Given the description of an element on the screen output the (x, y) to click on. 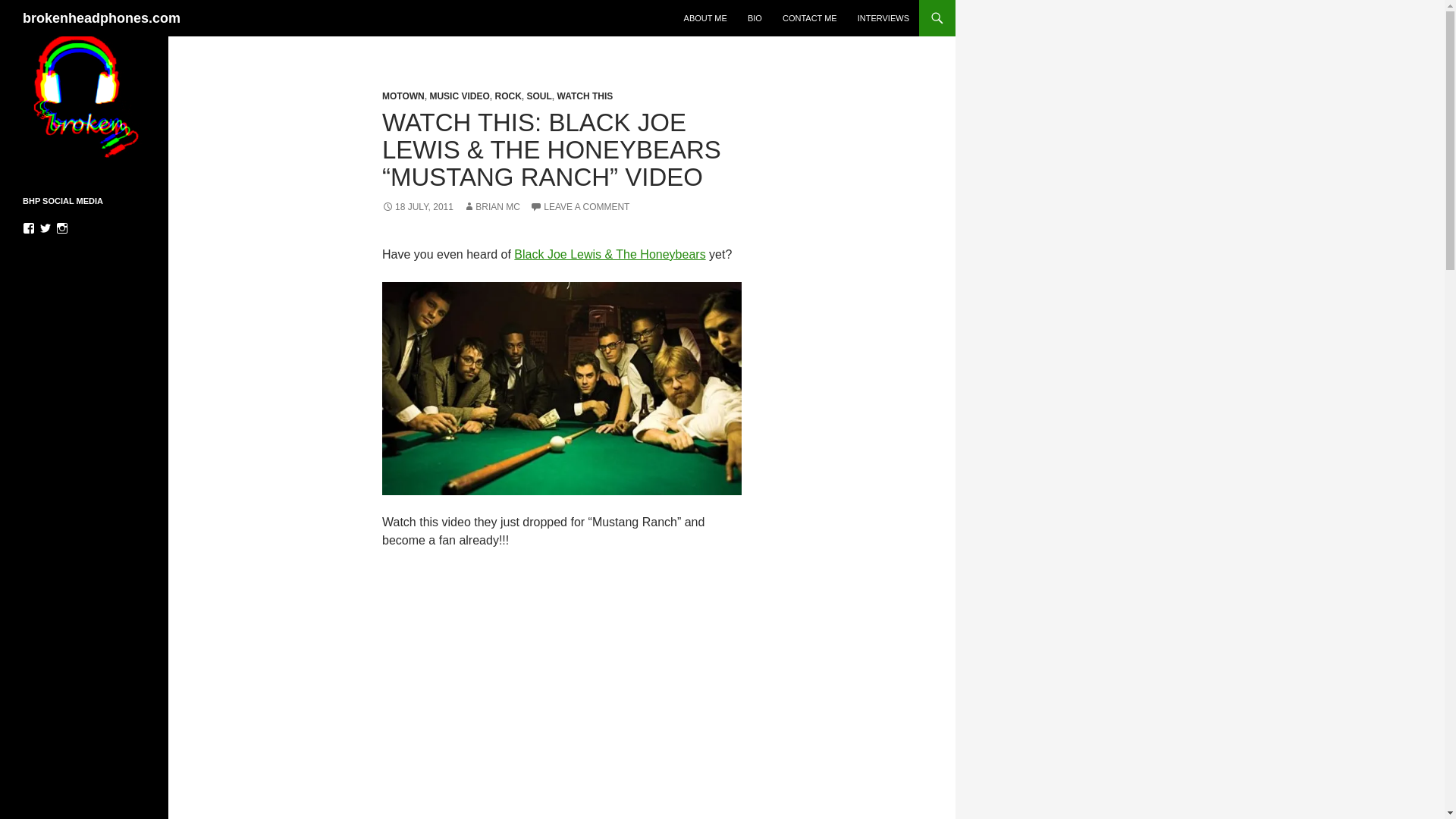
MUSIC VIDEO (459, 95)
Facebook (28, 227)
SOUL (538, 95)
ROCK (508, 95)
brokenheadphones.com (101, 18)
ABOUT ME (705, 18)
INTERVIEWS (883, 18)
LEAVE A COMMENT (578, 206)
Instagram (62, 227)
CONTACT ME (809, 18)
WATCH THIS (584, 95)
MOTOWN (403, 95)
Twitter (44, 227)
BIO (754, 18)
18 JULY, 2011 (416, 206)
